Given the description of an element on the screen output the (x, y) to click on. 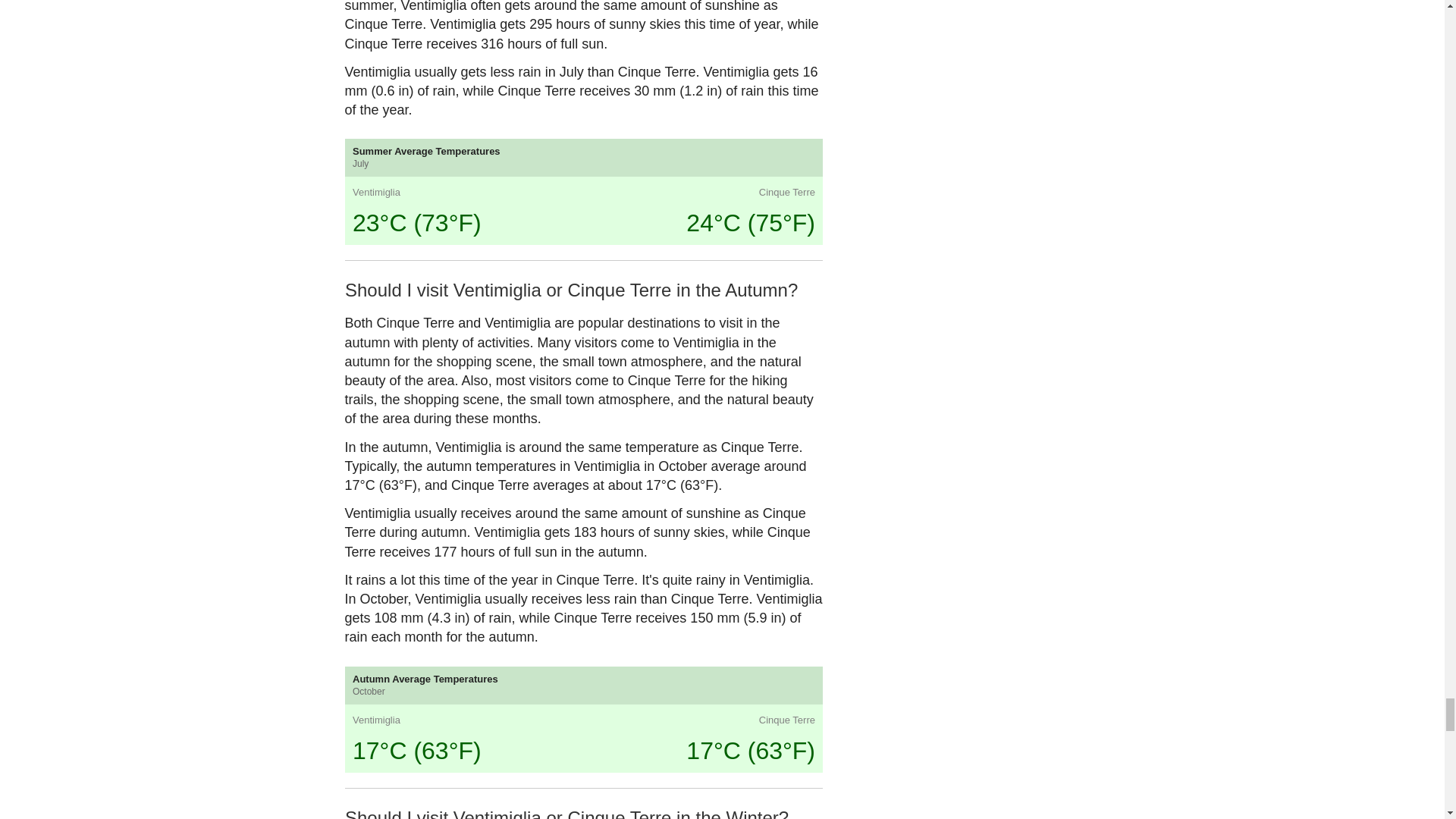
Travel Costs for Rome (400, 785)
Travel Costs for Milan (522, 785)
